Given the description of an element on the screen output the (x, y) to click on. 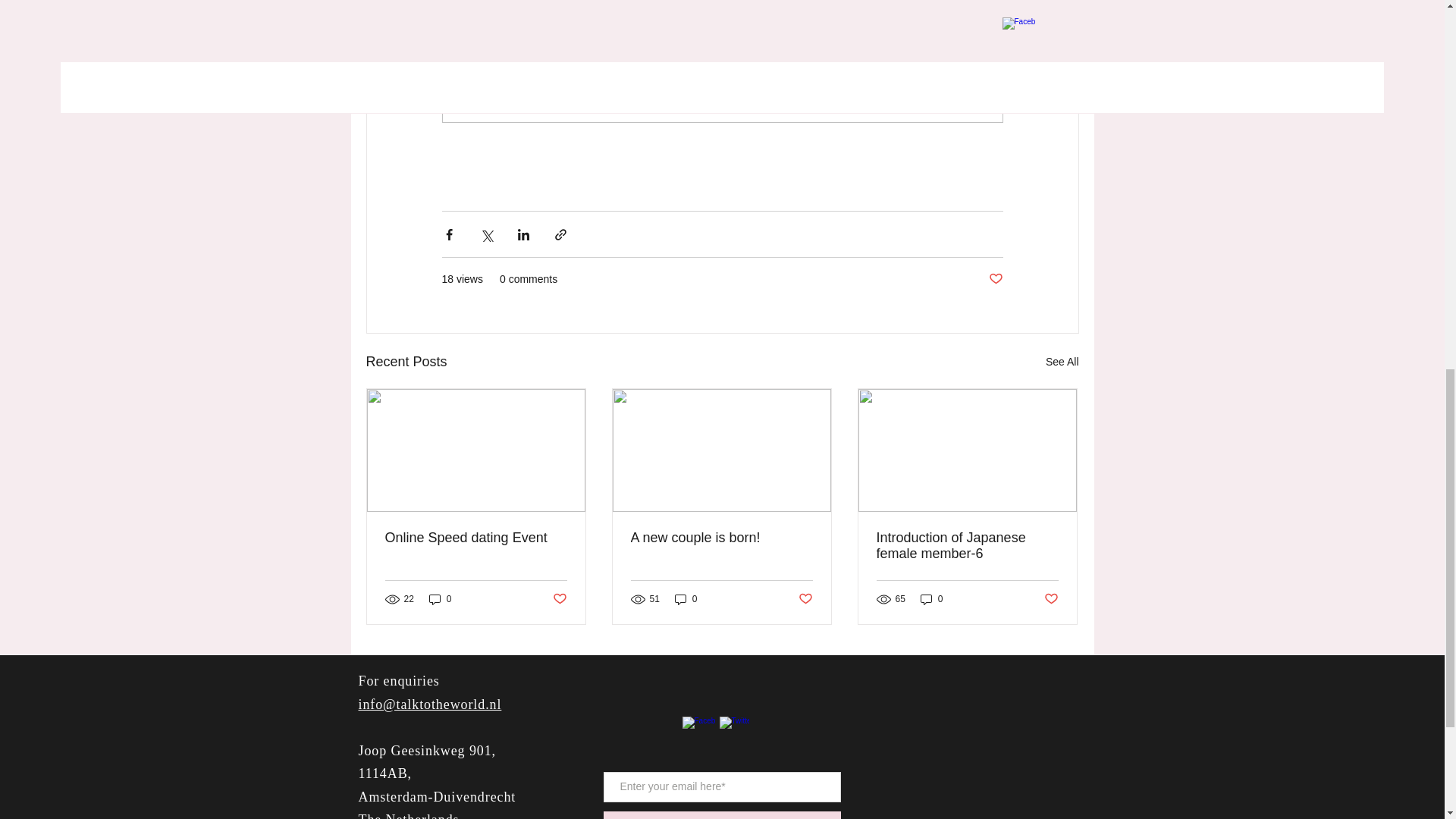
0 (685, 599)
Post not marked as liked (995, 279)
Post not marked as liked (558, 599)
See All (1061, 362)
A new couple is born! (721, 537)
Subscribe Now (722, 815)
Post not marked as liked (1050, 599)
Introduction of Japanese female member-6 (967, 545)
0 (931, 599)
Post not marked as liked (804, 599)
